Given the description of an element on the screen output the (x, y) to click on. 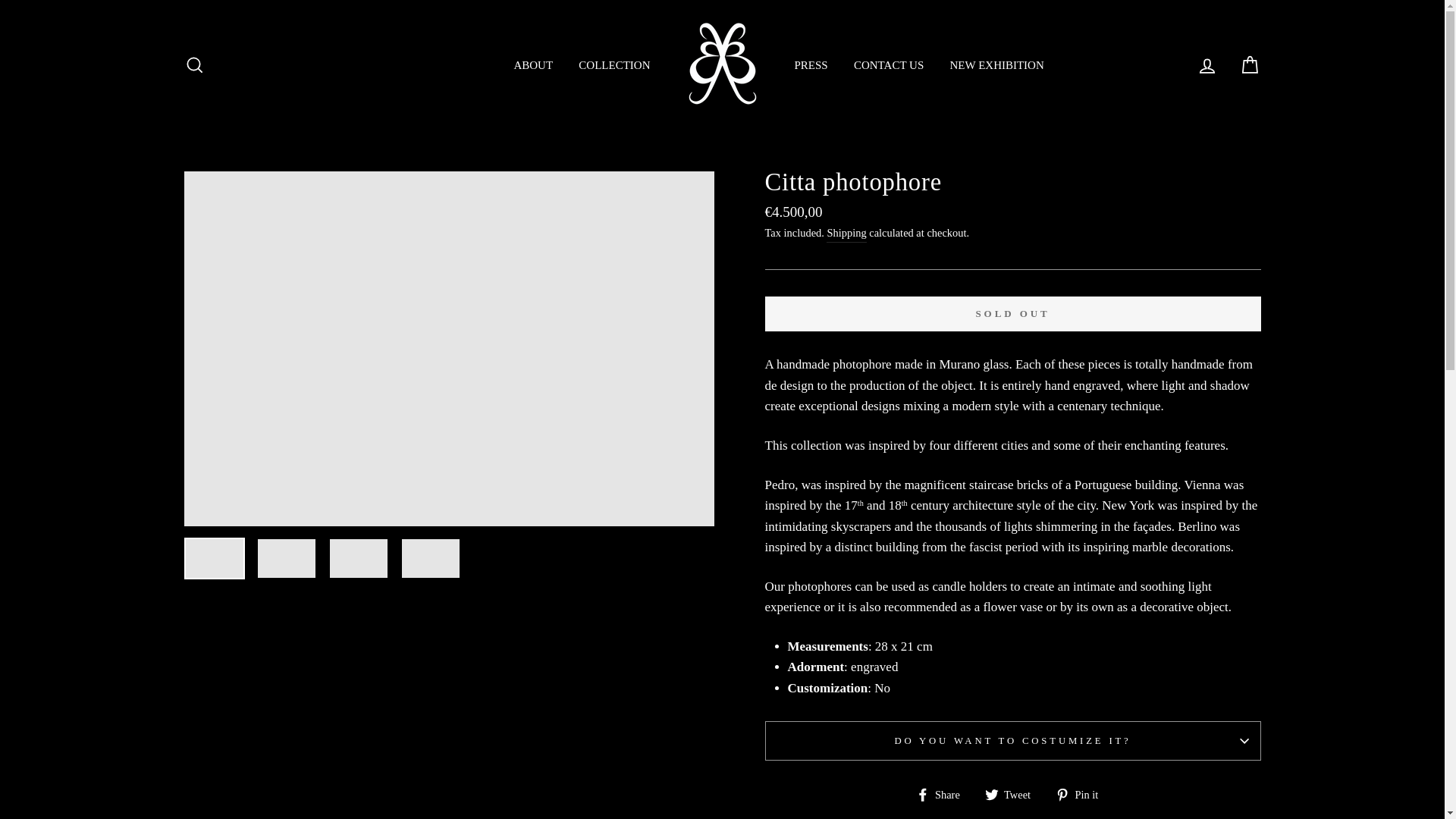
Share on Facebook (943, 792)
Tweet on Twitter (1013, 792)
Pin on Pinterest (1082, 792)
